Given the description of an element on the screen output the (x, y) to click on. 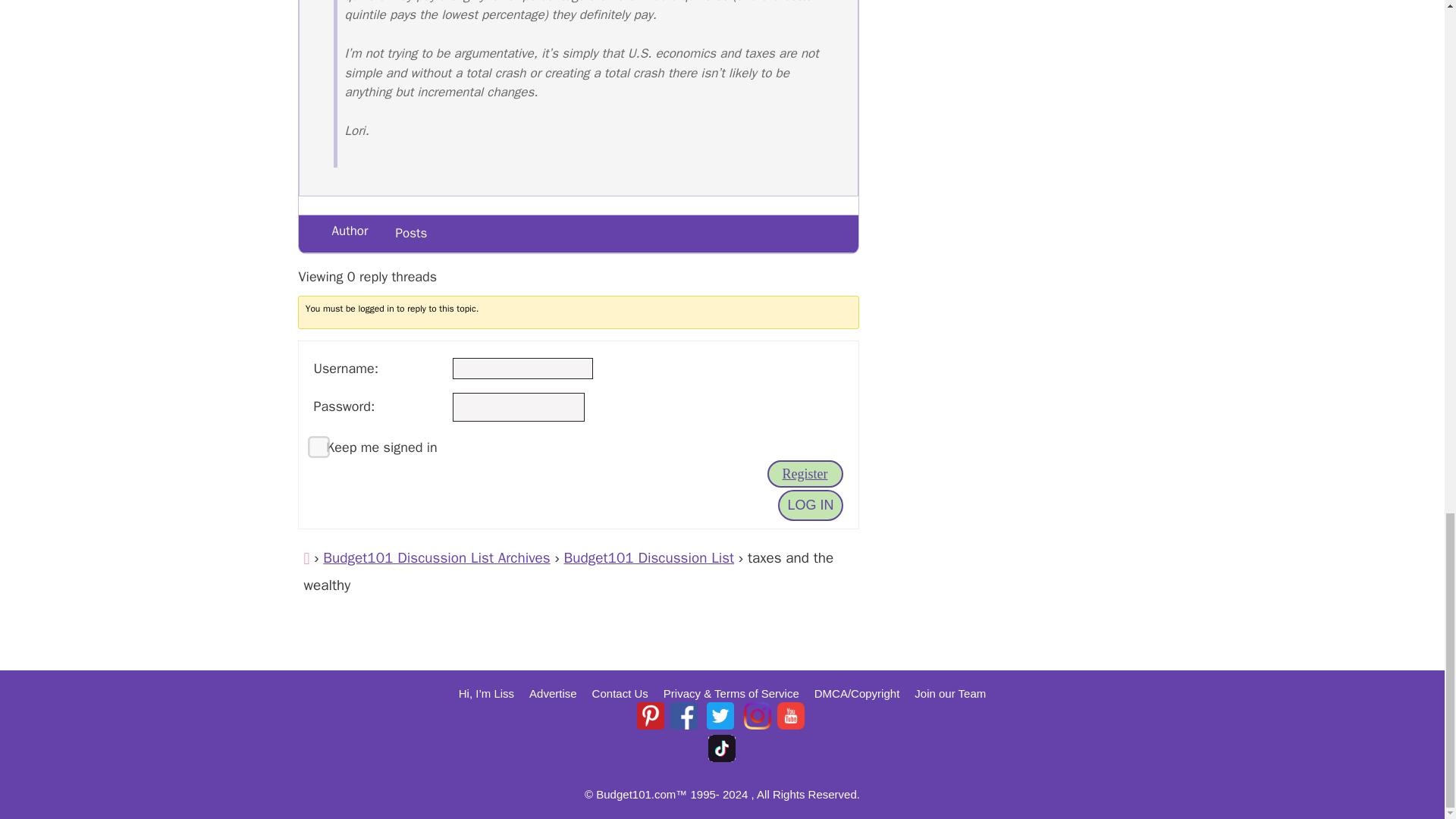
fb icon (683, 715)
instagram icon (757, 715)
pinterest icon (650, 715)
youtube icon (791, 715)
tiktok (721, 748)
forever (312, 440)
twitter icon (719, 715)
